Given the description of an element on the screen output the (x, y) to click on. 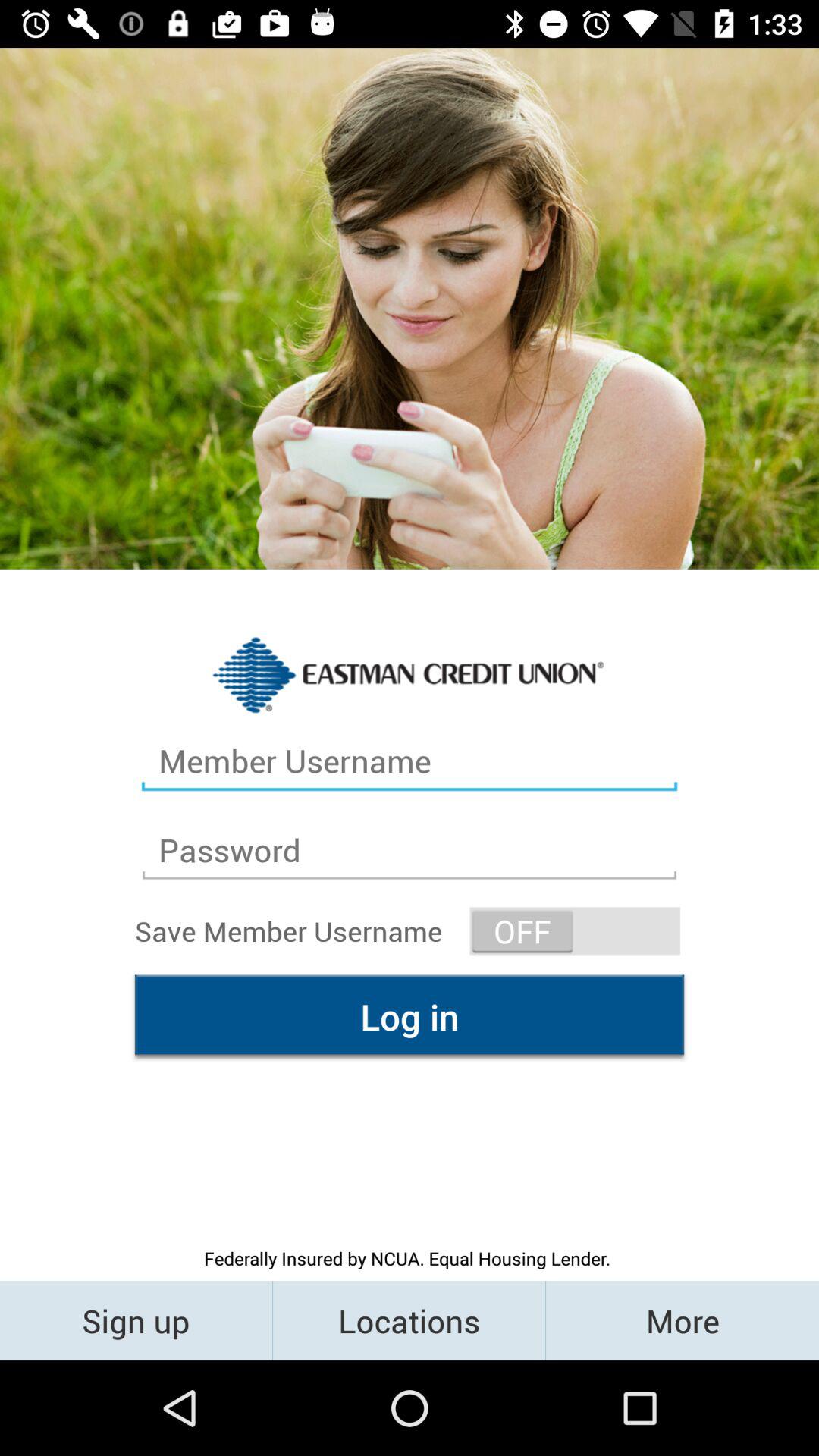
click the icon to the right of locations (682, 1320)
